Given the description of an element on the screen output the (x, y) to click on. 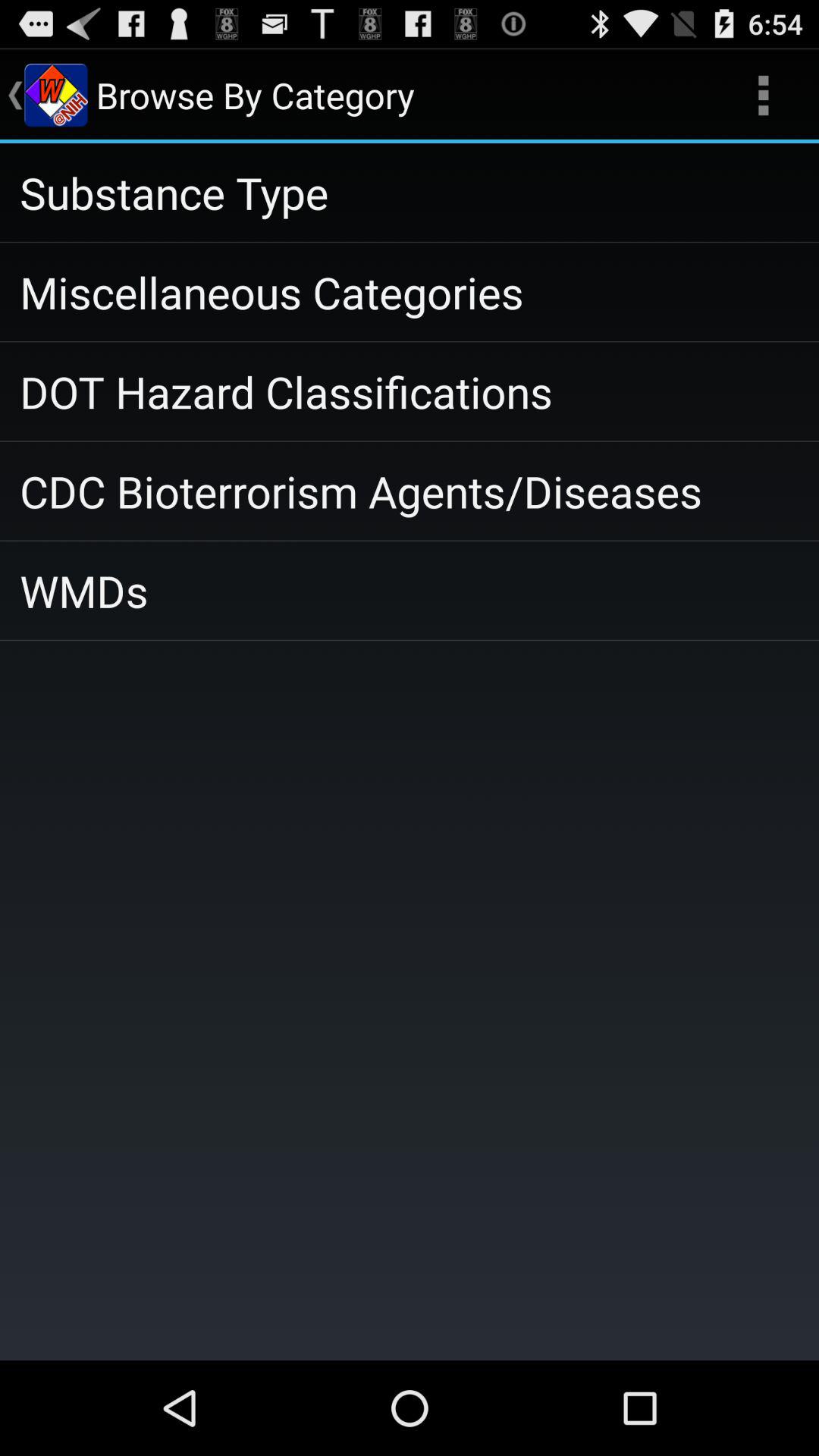
open the cdc bioterrorism agents item (409, 490)
